Given the description of an element on the screen output the (x, y) to click on. 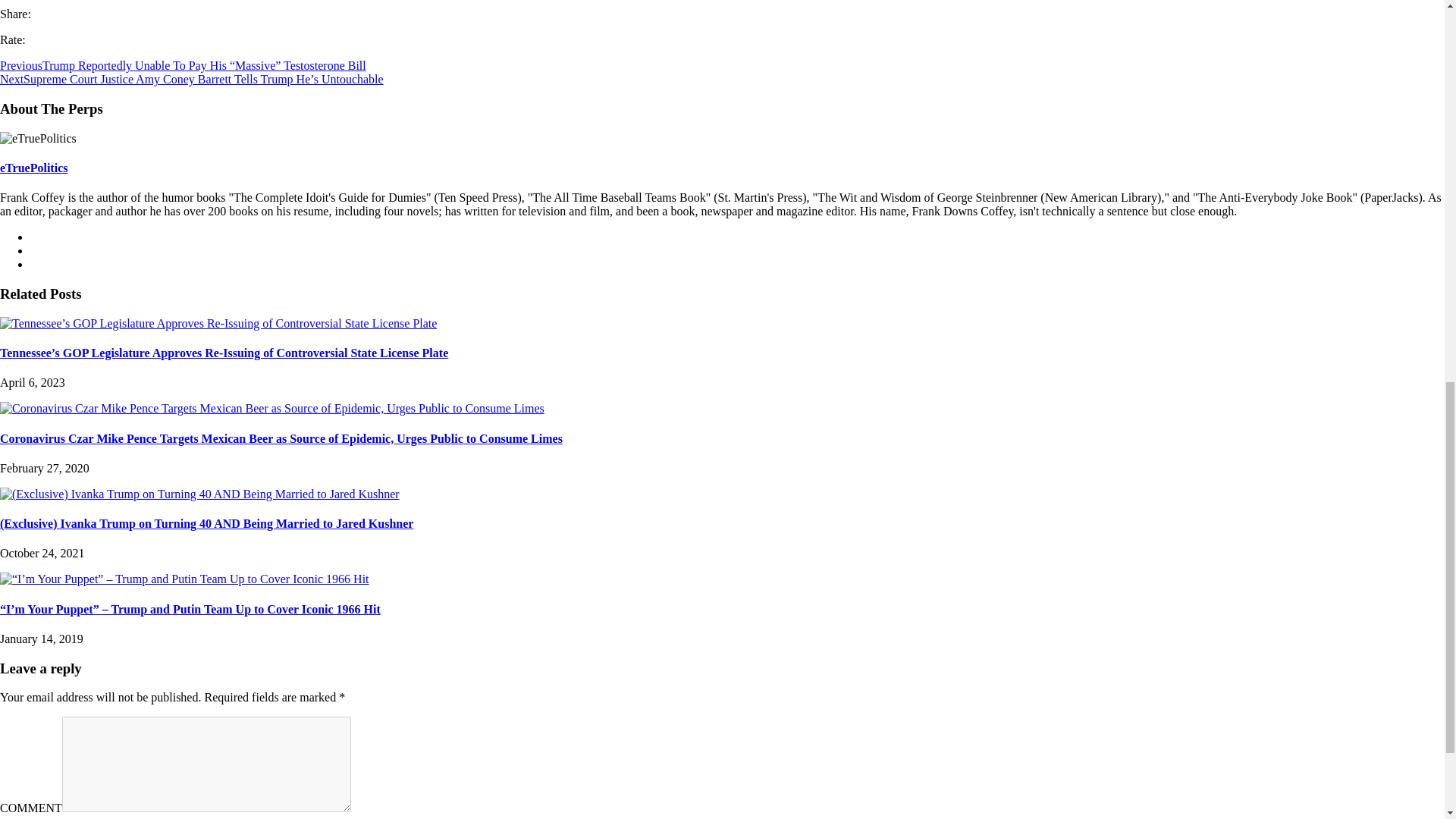
eTruePolitics (33, 167)
View all posts by eTruePolitics (33, 167)
